Given the description of an element on the screen output the (x, y) to click on. 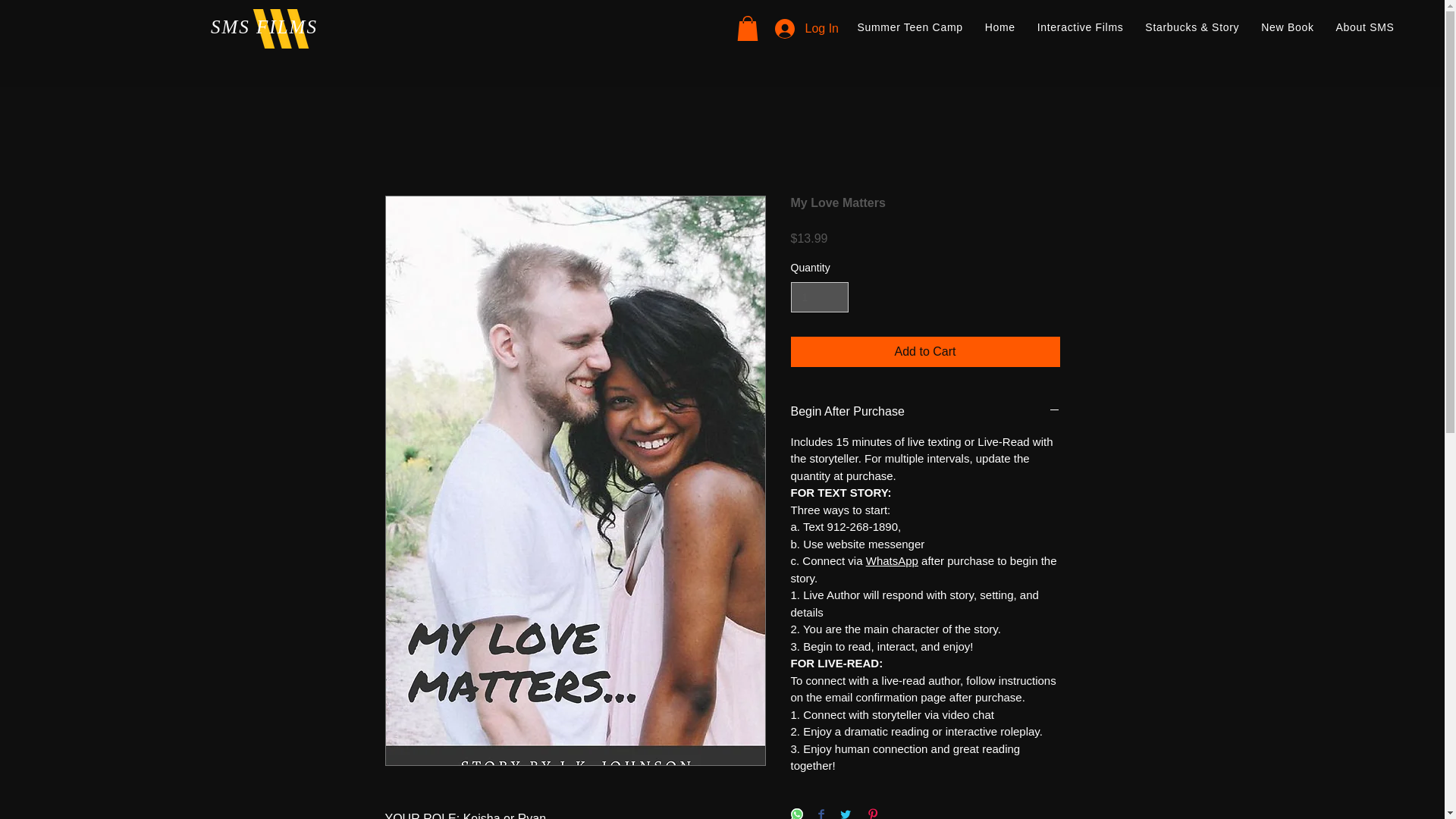
About SMS (1364, 26)
Log In (806, 28)
Begin After Purchase (924, 411)
1 (818, 296)
WhatsApp (892, 560)
Add to Cart (924, 351)
Interactive Films (1080, 26)
New Book (1287, 26)
Summer Teen Camp (909, 26)
Home (999, 26)
